Given the description of an element on the screen output the (x, y) to click on. 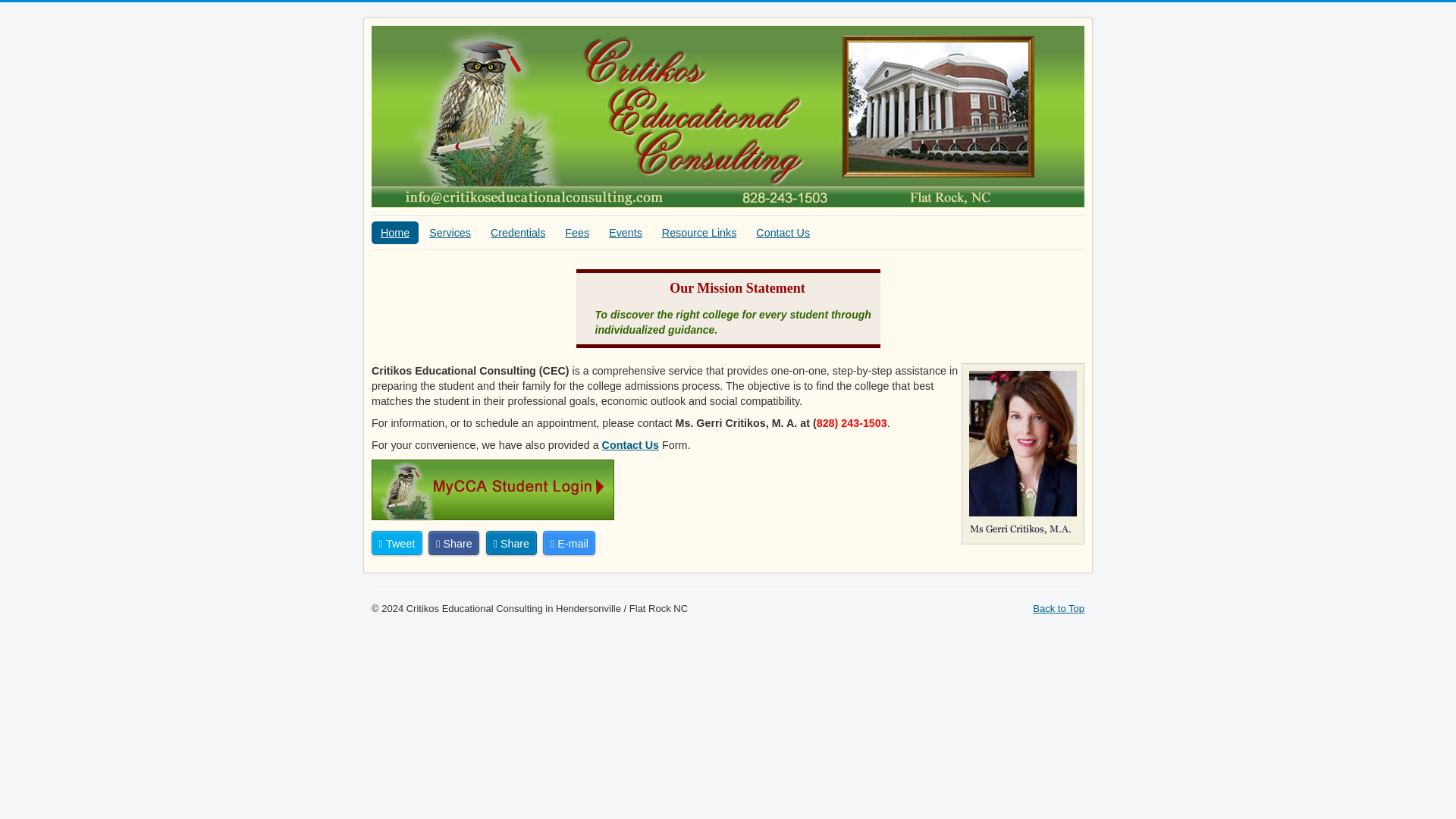
Events (624, 232)
Contact Us (782, 232)
Back to Top (1058, 608)
Contact Us (630, 444)
Tweet (396, 542)
E-mail (569, 542)
Credentials (517, 232)
Services (450, 232)
Fees (577, 232)
Resource Links (698, 232)
Share (511, 542)
Home (395, 232)
Share (453, 542)
